Given the description of an element on the screen output the (x, y) to click on. 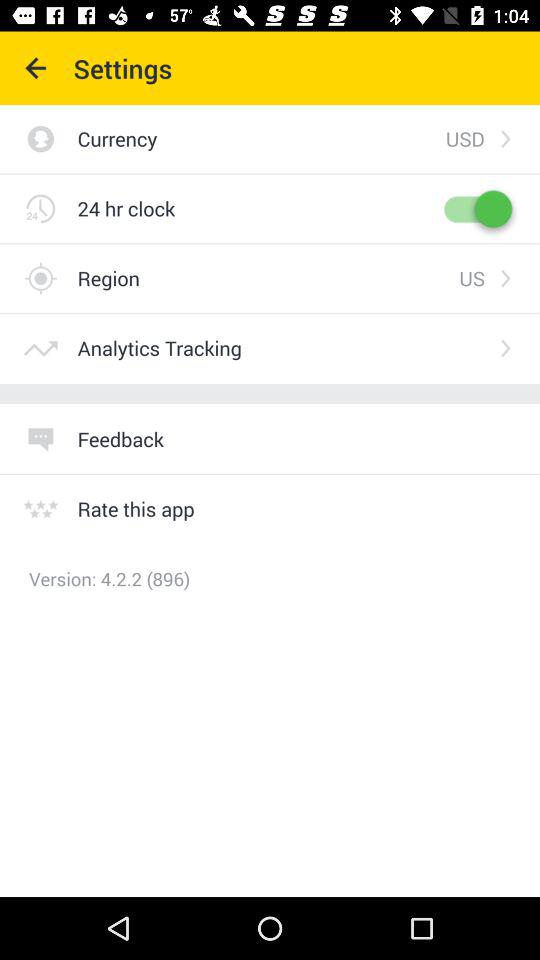
choose rate this app item (135, 508)
